Given the description of an element on the screen output the (x, y) to click on. 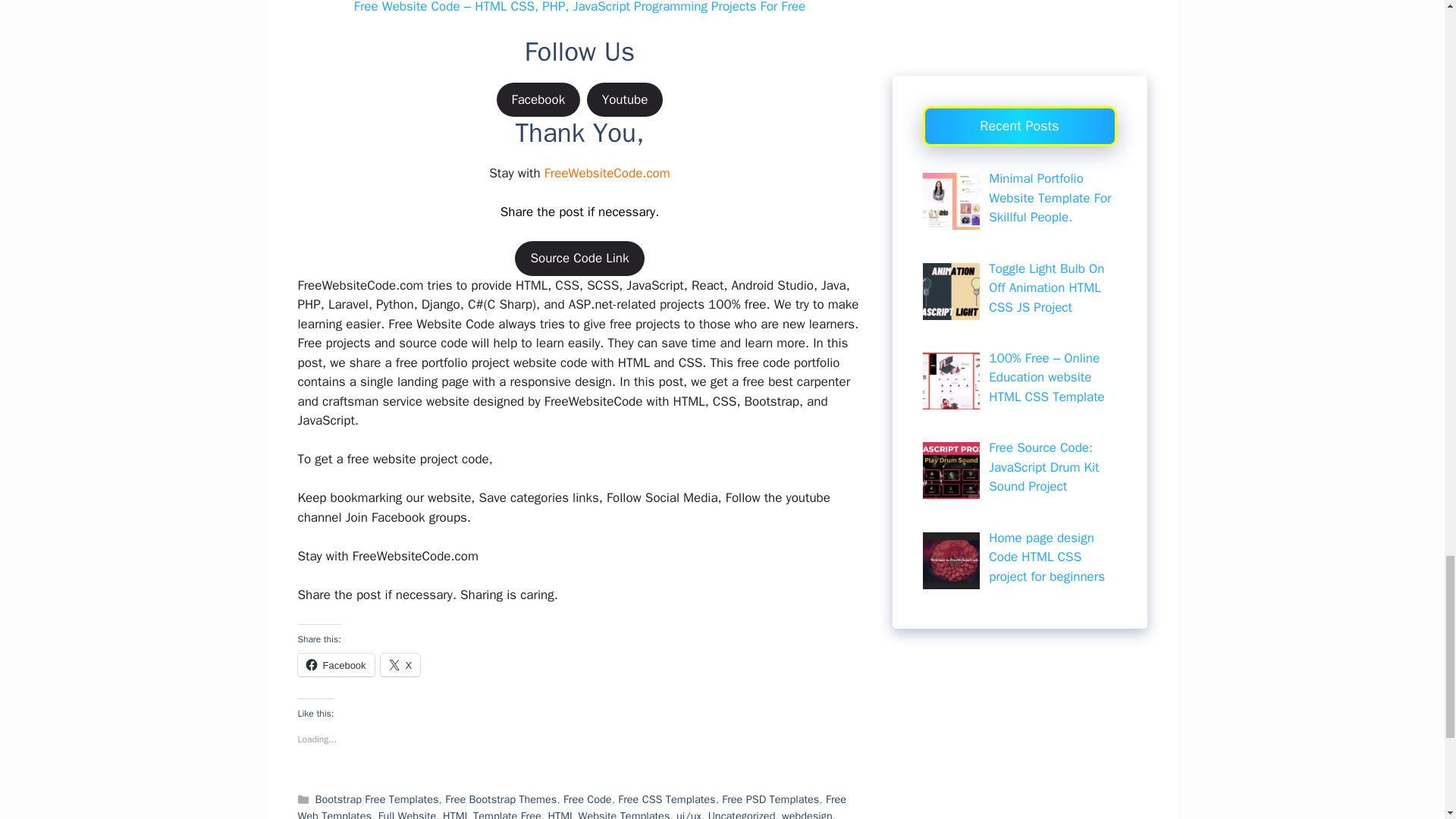
Click to share on X (400, 664)
Click to share on Facebook (335, 664)
